Given the description of an element on the screen output the (x, y) to click on. 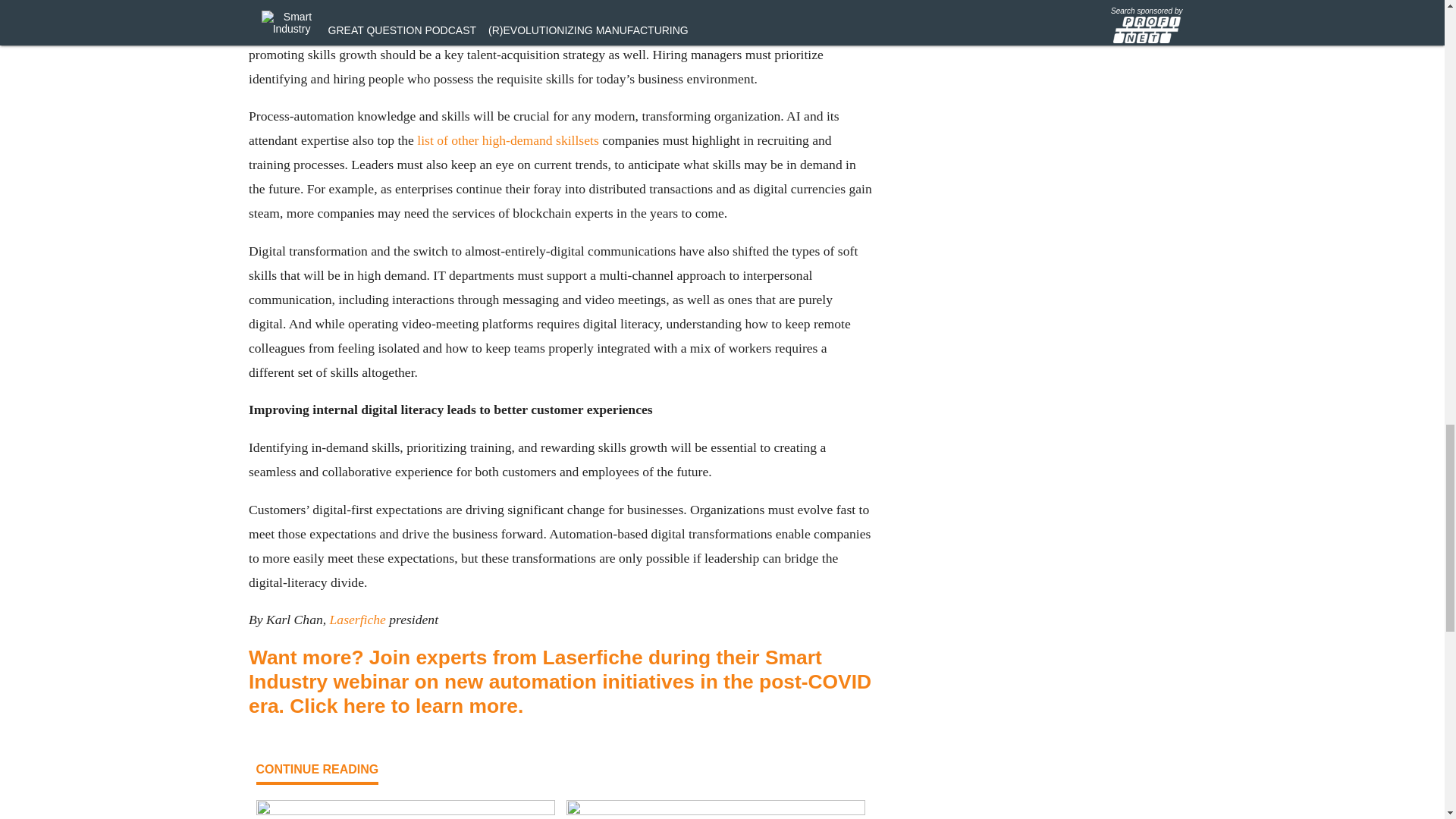
list of other high-demand skillsets (507, 140)
Laserfiche (357, 619)
